Given the description of an element on the screen output the (x, y) to click on. 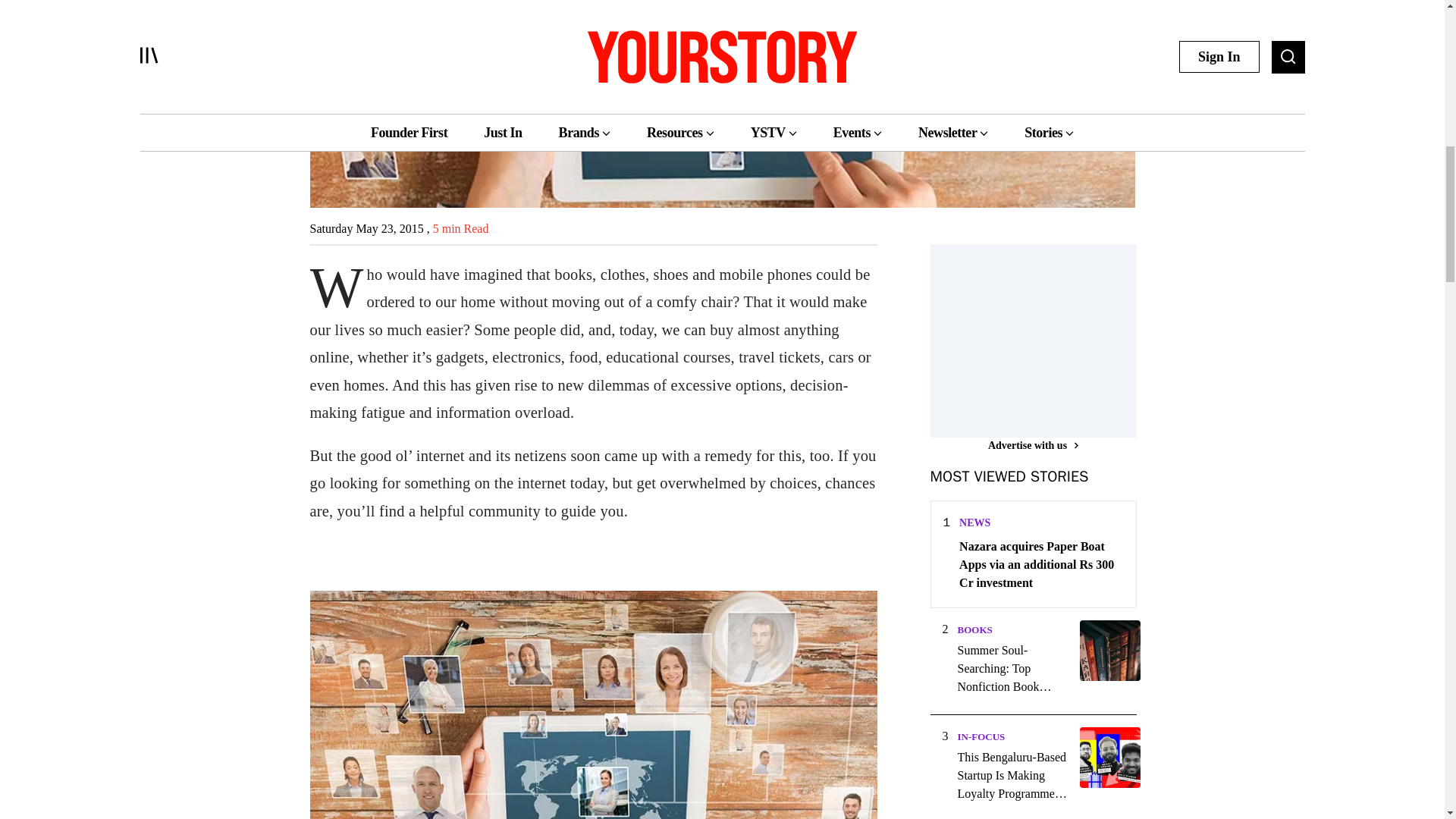
Advertise with us (1032, 445)
3rd party ad content (1043, 339)
